Given the description of an element on the screen output the (x, y) to click on. 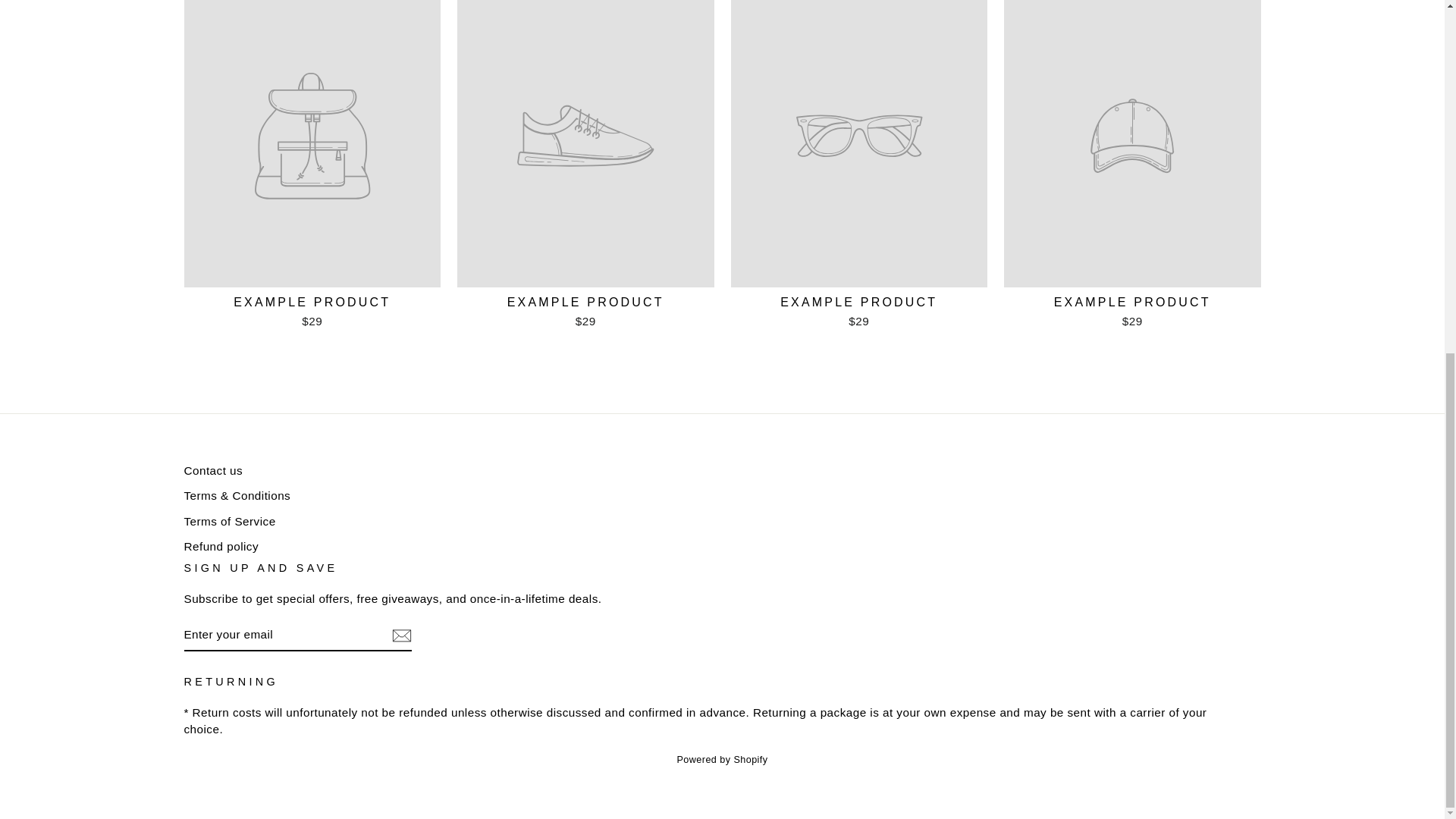
Refund policy (221, 546)
Terms of Service (229, 521)
Contact us (213, 470)
